Given the description of an element on the screen output the (x, y) to click on. 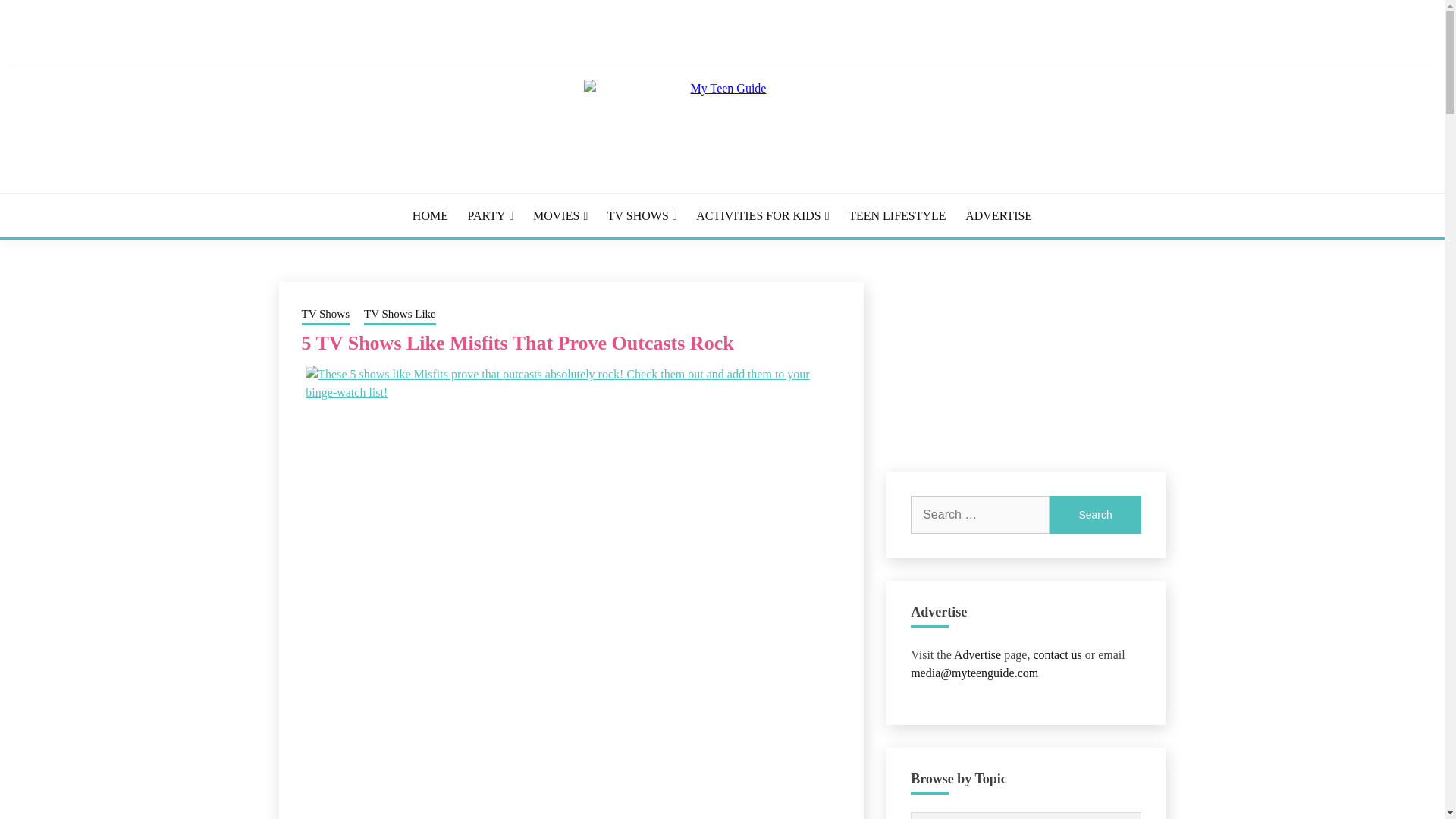
contact us (1056, 654)
TEEN LIFESTYLE (896, 215)
ACTIVITIES FOR KIDS (761, 215)
MY TEEN GUIDE (464, 213)
HOME (430, 215)
MOVIES (560, 215)
TV Shows Like (399, 315)
TV Shows (325, 315)
TV SHOWS (642, 215)
PARTY (490, 215)
